Given the description of an element on the screen output the (x, y) to click on. 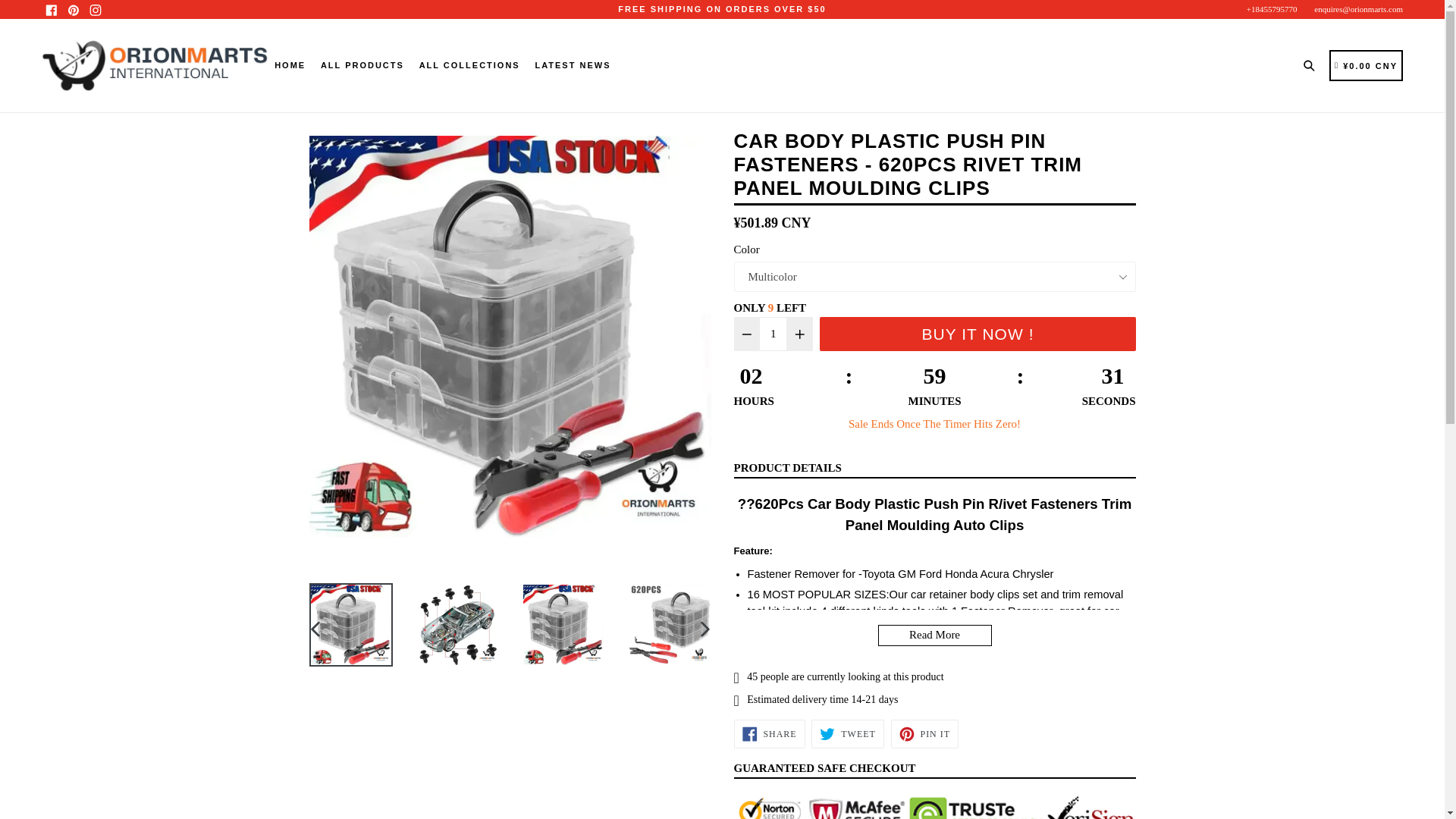
Share on Facebook (769, 733)
Search (1311, 64)
PRODUCT DETAILS (787, 468)
PREVIOUS SLIDE (315, 628)
BUY IT NOW ! (976, 333)
Orionmarts International on Facebook (51, 9)
Pinterest (73, 9)
ALL COLLECTIONS (469, 65)
Facebook (51, 9)
ALL PRODUCTS (362, 65)
Instagram (94, 9)
Tweet on Twitter (846, 733)
NEXT SLIDE (705, 628)
Pin on Pinterest (924, 733)
Orionmarts International on Pinterest (73, 9)
